Given the description of an element on the screen output the (x, y) to click on. 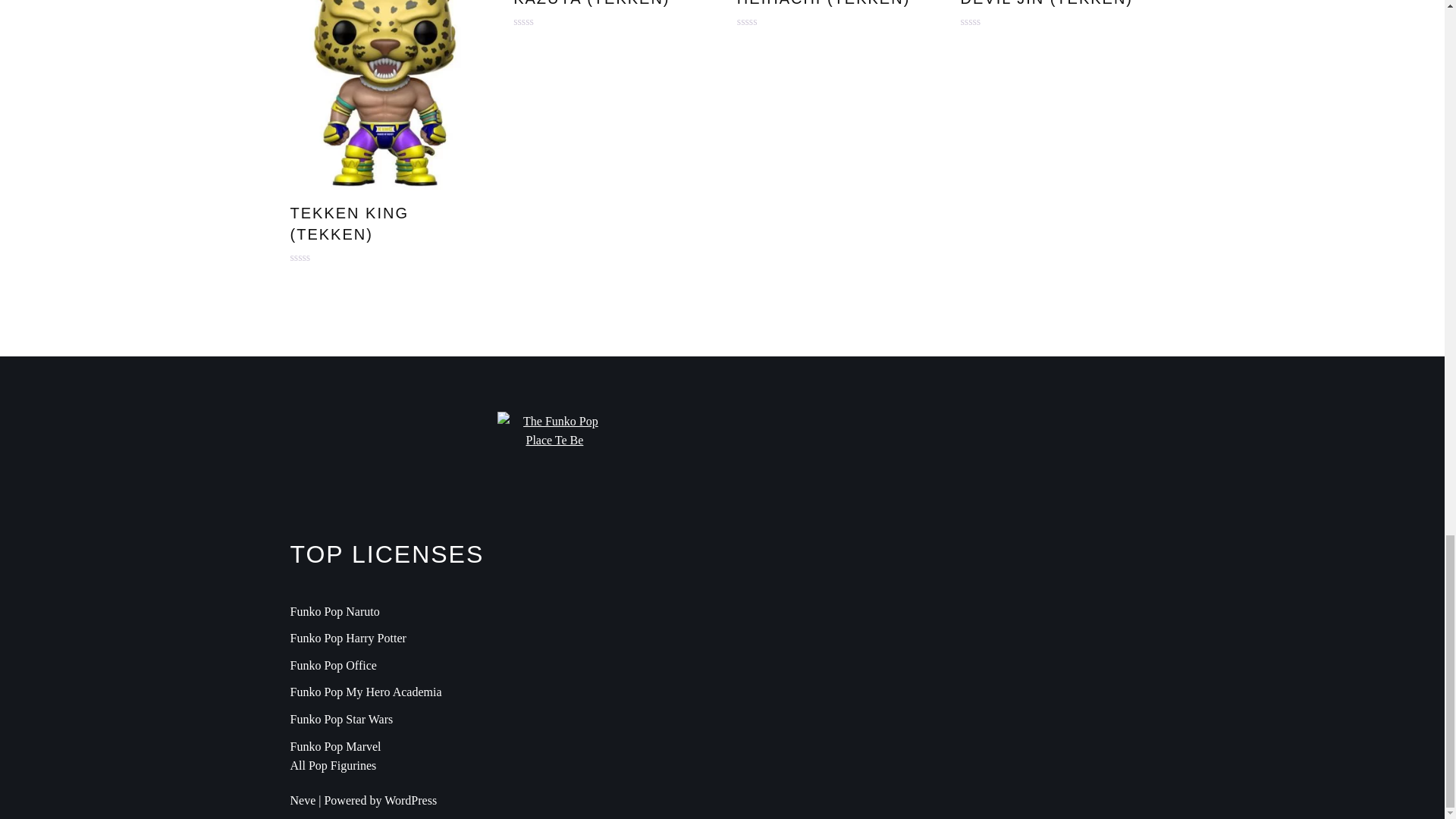
Funko Pop Harry Potter (347, 637)
Funko Pop Office (332, 665)
Funko Pop Naruto (333, 611)
